Given the description of an element on the screen output the (x, y) to click on. 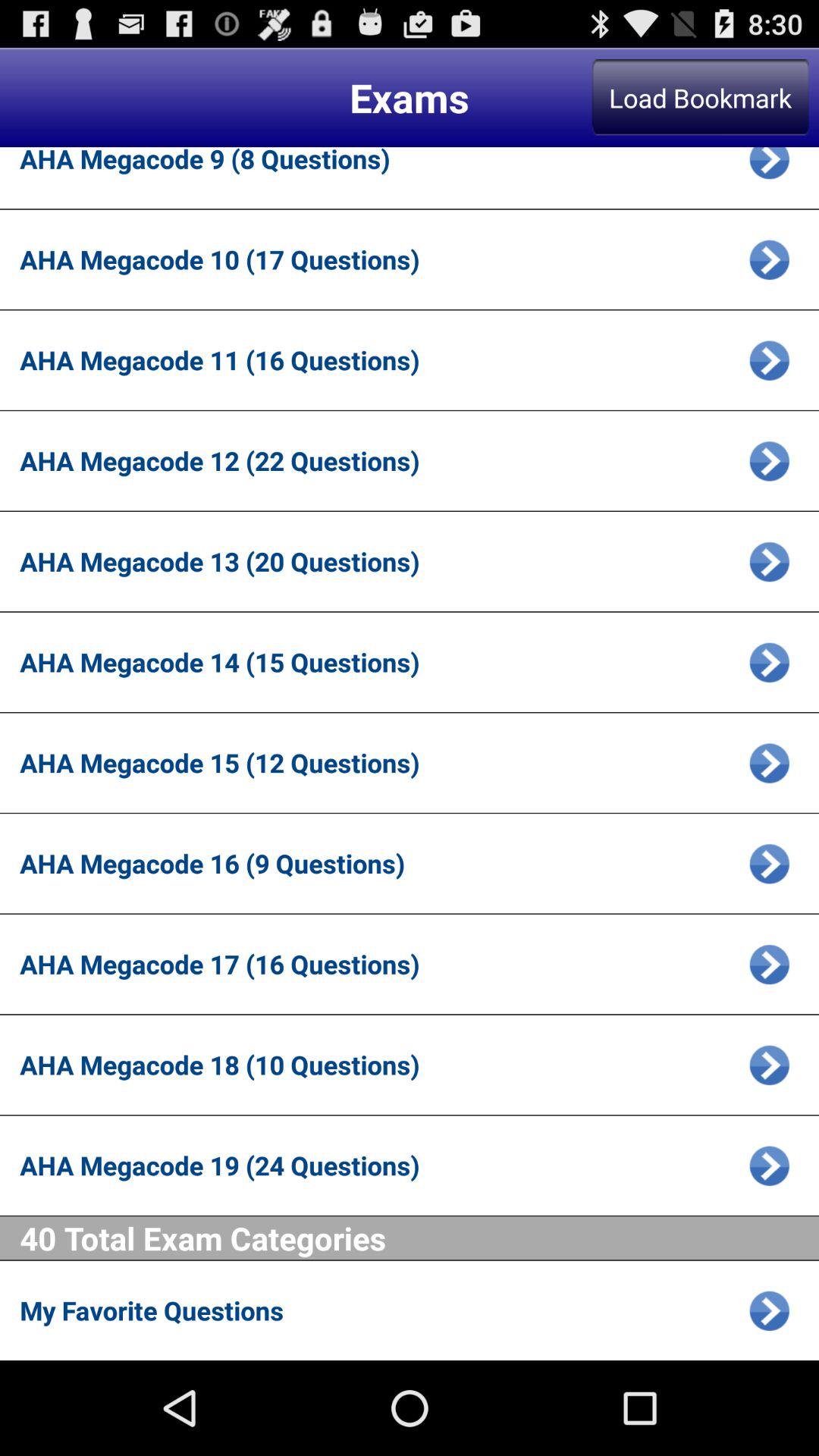
open exam 'aha megacode 9 (769, 167)
